Given the description of an element on the screen output the (x, y) to click on. 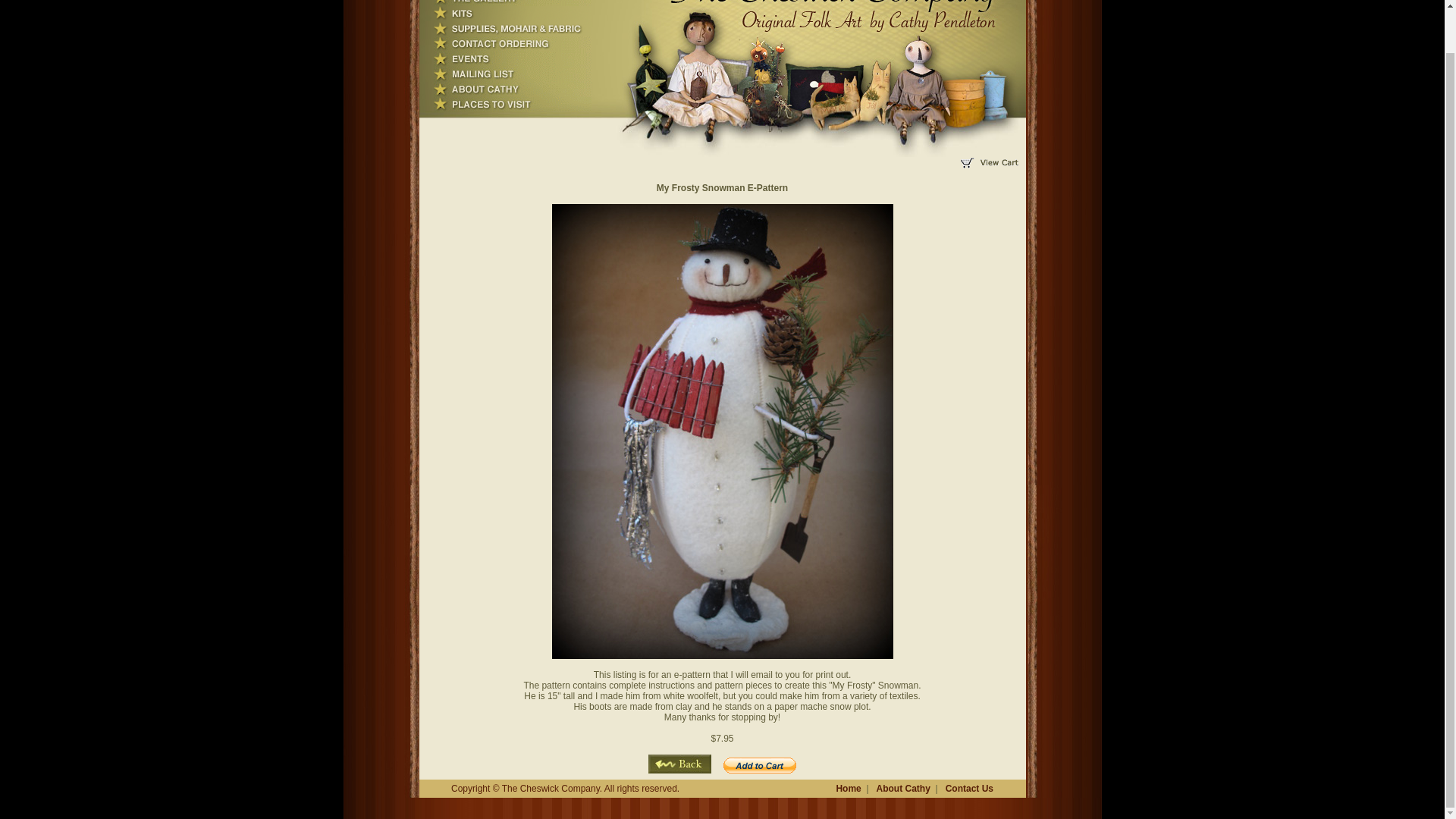
About Cathy (903, 787)
Home (847, 787)
Contact Us (968, 787)
